Given the description of an element on the screen output the (x, y) to click on. 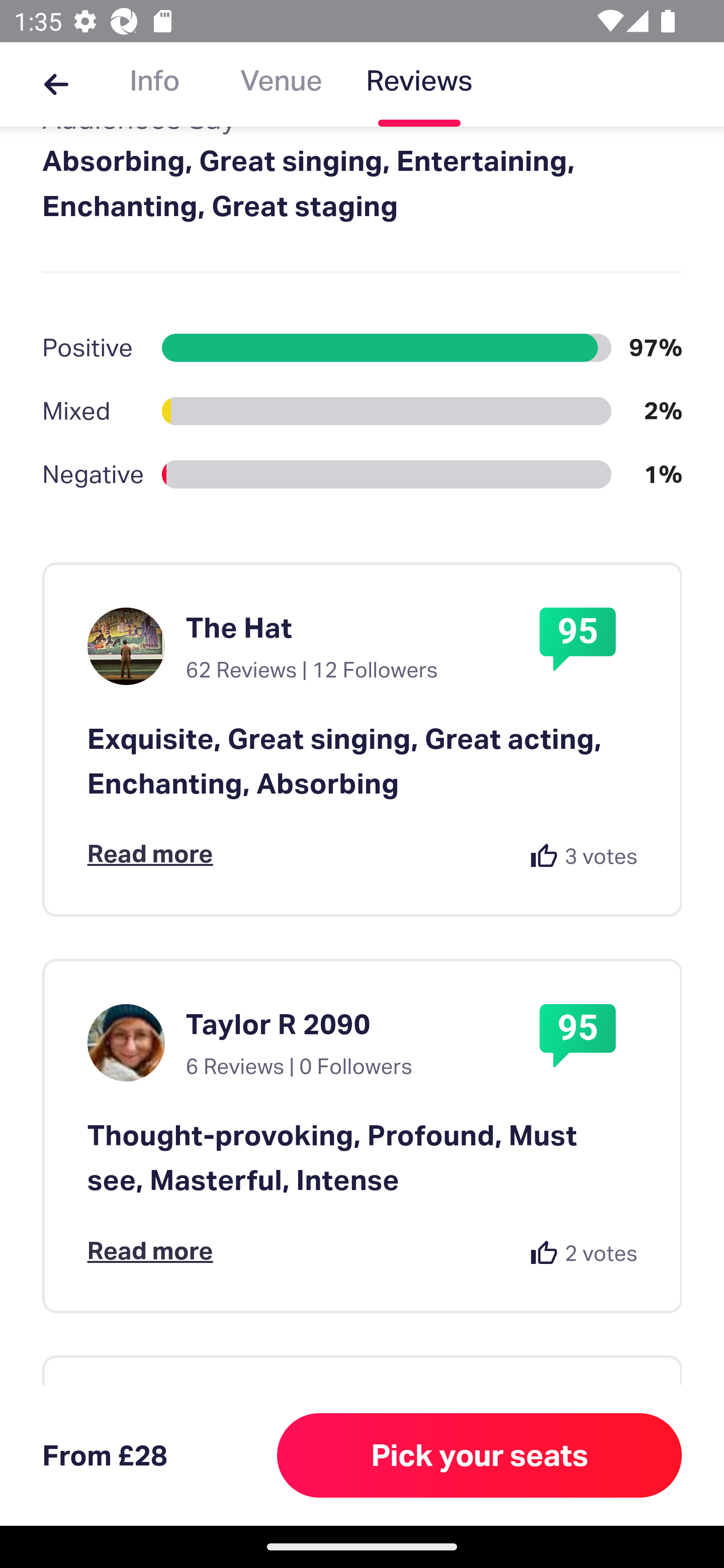
Info (154, 84)
Venue (280, 84)
Read more (150, 853)
Read more (150, 1249)
Pick your seats (479, 1454)
